Given the description of an element on the screen output the (x, y) to click on. 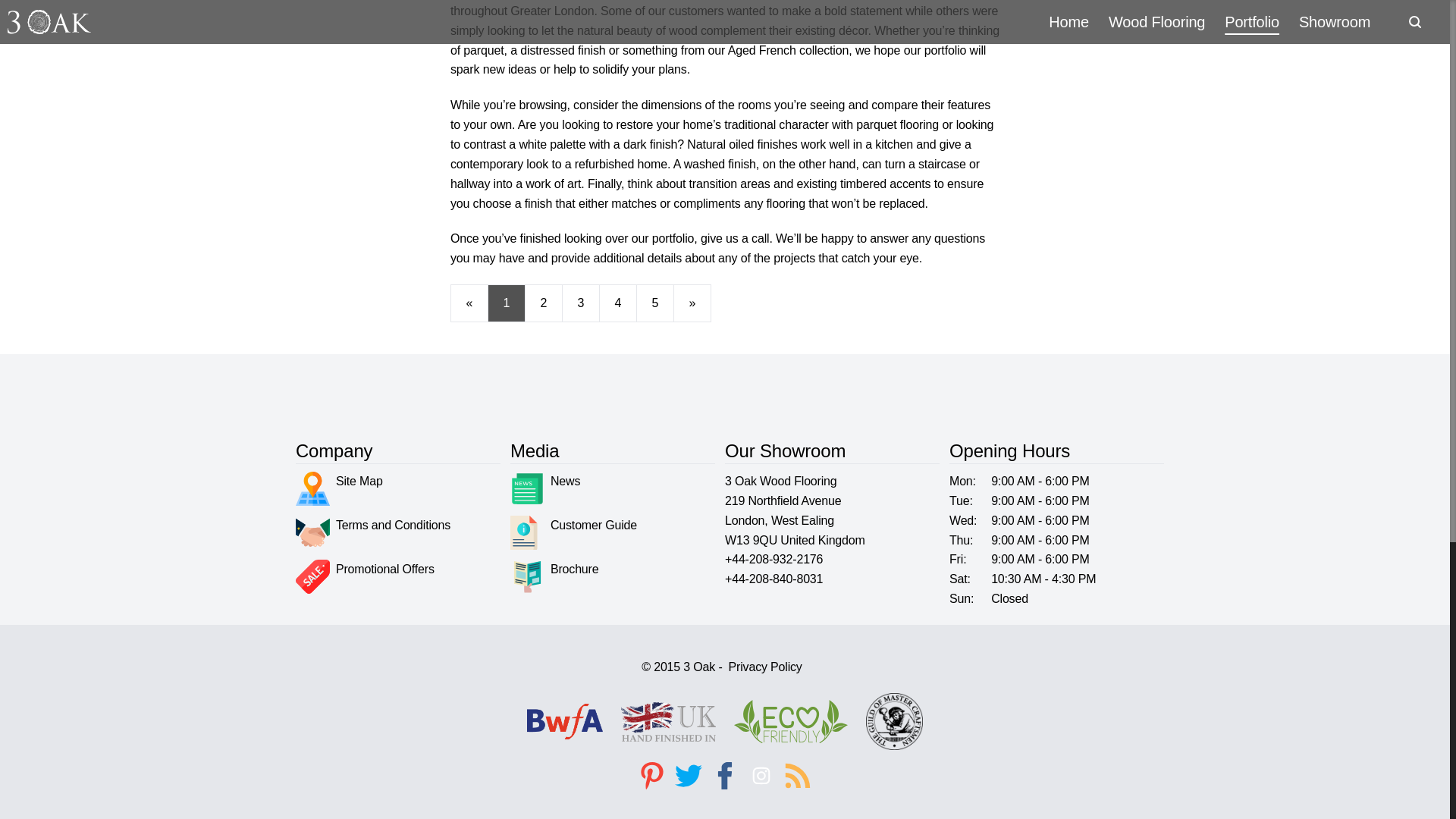
4 (617, 303)
3 (580, 303)
5 (654, 303)
1 (505, 303)
2 (543, 303)
